Given the description of an element on the screen output the (x, y) to click on. 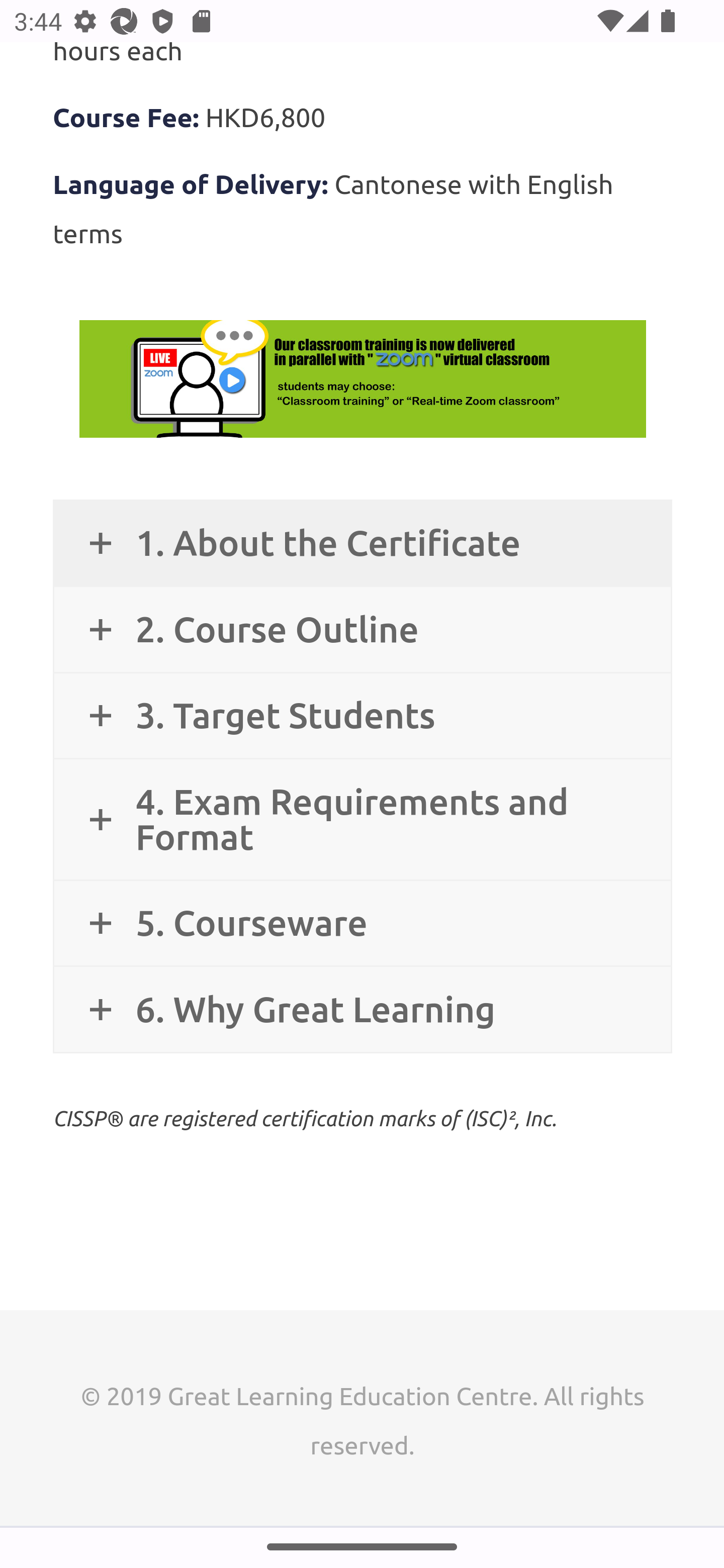
5. Courseware 5. Courseware 5. Courseware (361, 924)
